Given the description of an element on the screen output the (x, y) to click on. 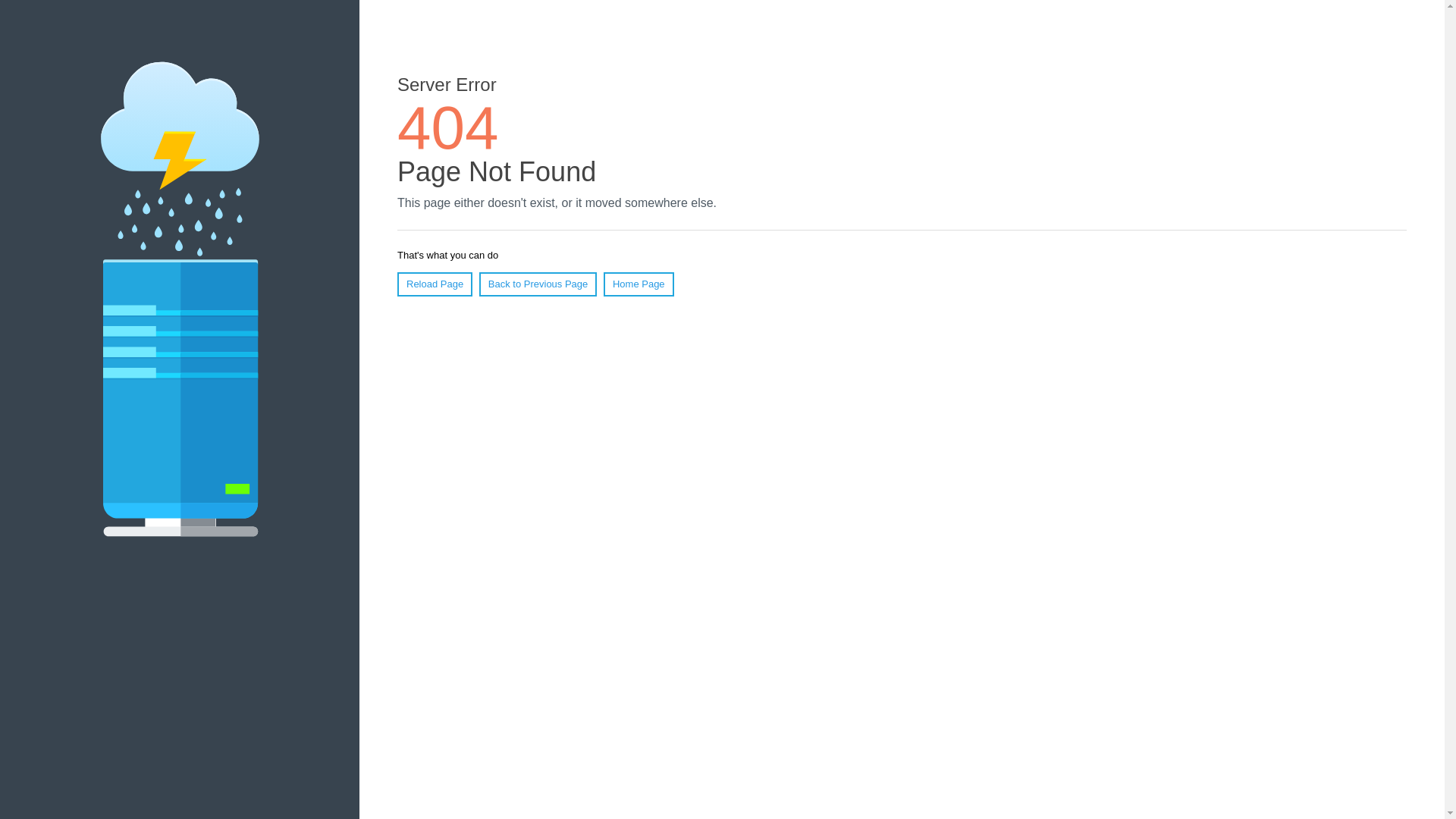
Home Page Element type: text (638, 284)
Reload Page Element type: text (434, 284)
Back to Previous Page Element type: text (538, 284)
